Given the description of an element on the screen output the (x, y) to click on. 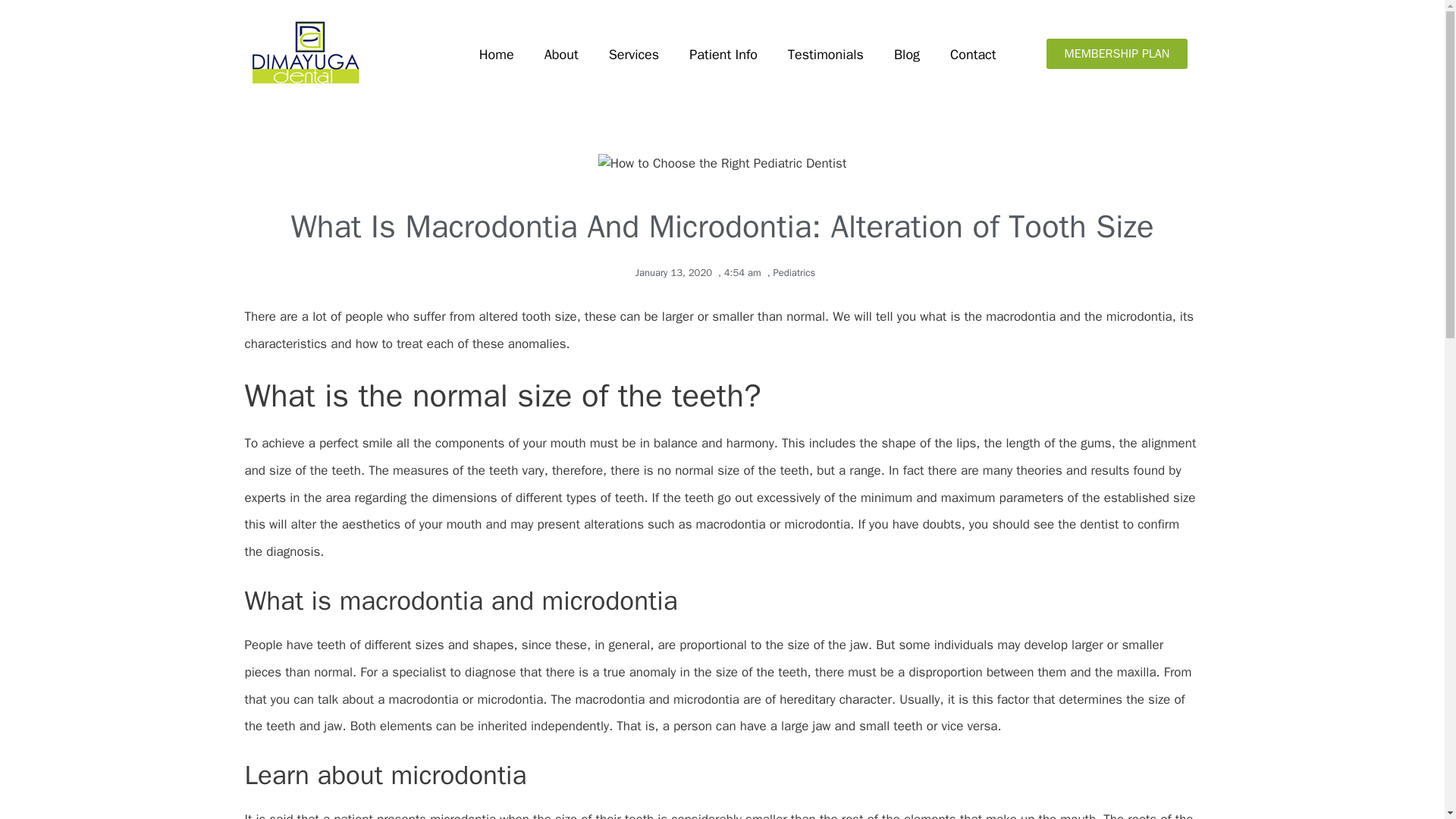
How to Choose the Right Pediatric Dentist (722, 163)
Contact (972, 54)
Testimonials (826, 54)
Patient Info (723, 54)
Home (496, 54)
Services (634, 54)
Blog (906, 54)
About (561, 54)
